Given the description of an element on the screen output the (x, y) to click on. 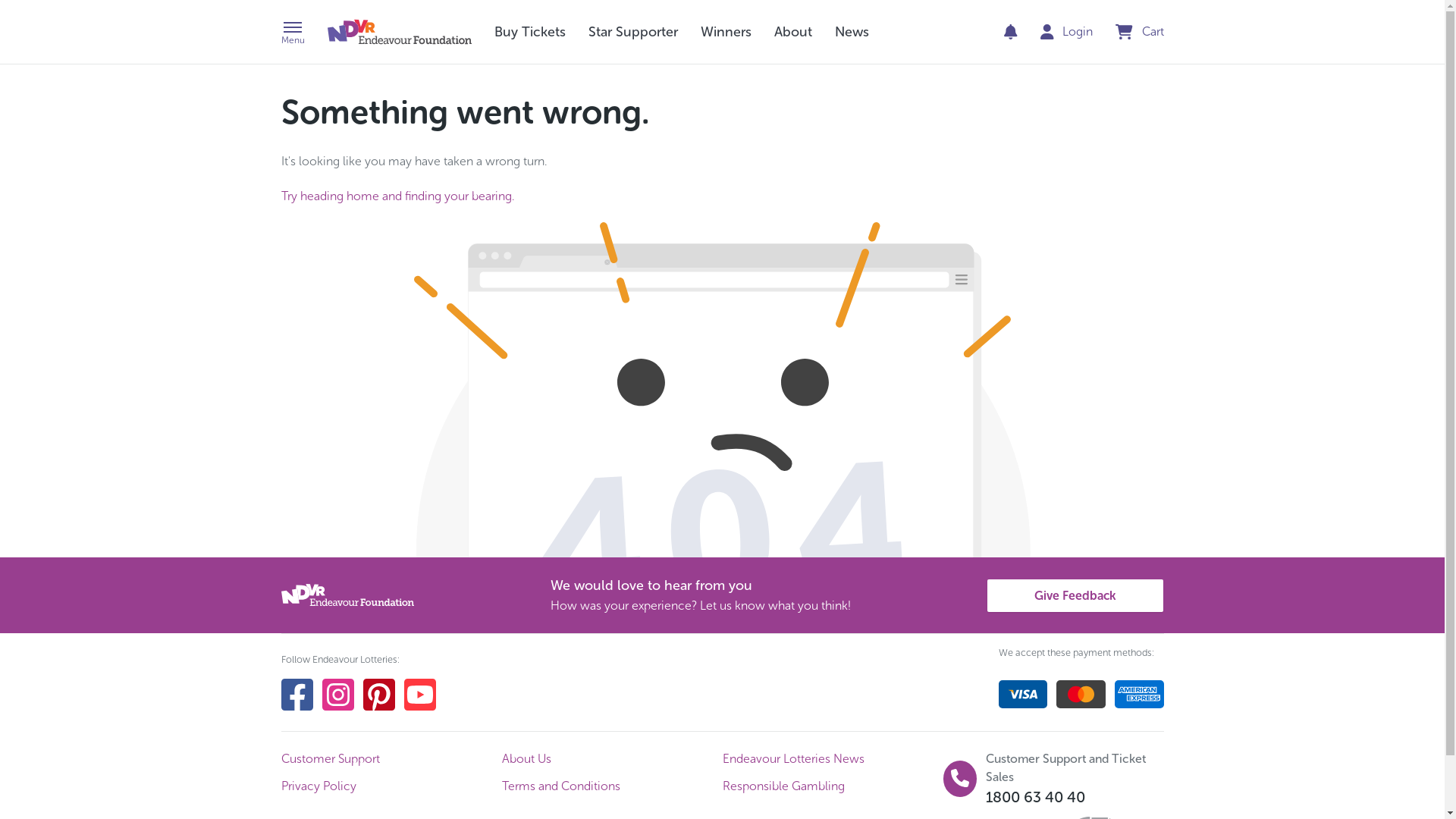
Winners Element type: text (725, 31)
Cart Element type: text (1139, 31)
Buy Tickets Element type: text (529, 31)
News Element type: text (851, 31)
Endeavour Lotteries News Element type: text (831, 758)
About Element type: text (792, 31)
Star Supporter Element type: text (632, 31)
Give Feedback Element type: text (1075, 595)
Privacy Policy Element type: text (390, 786)
Login Element type: text (1066, 31)
Customer Support Element type: text (390, 758)
Responsible Gambling Element type: text (831, 786)
Try heading home and finding your bearing. Element type: text (397, 195)
Terms and Conditions Element type: text (612, 786)
About Us Element type: text (612, 758)
